Given the description of an element on the screen output the (x, y) to click on. 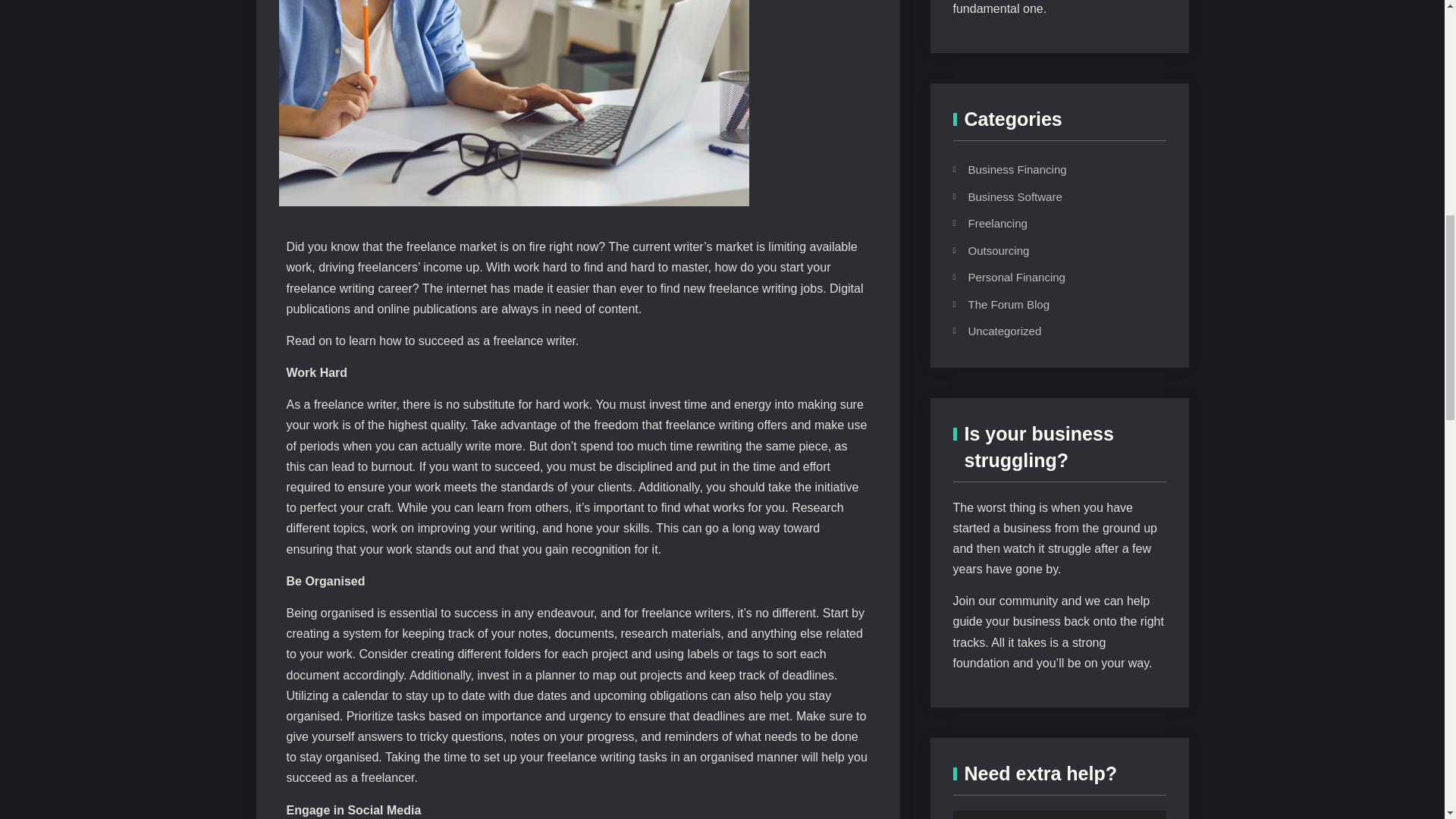
Uncategorized (1046, 331)
Business Financing (1046, 169)
Freelancing (1046, 223)
Personal Financing (1046, 277)
Business Software (1046, 197)
Outsourcing (1046, 250)
The Forum Blog (1046, 304)
